Given the description of an element on the screen output the (x, y) to click on. 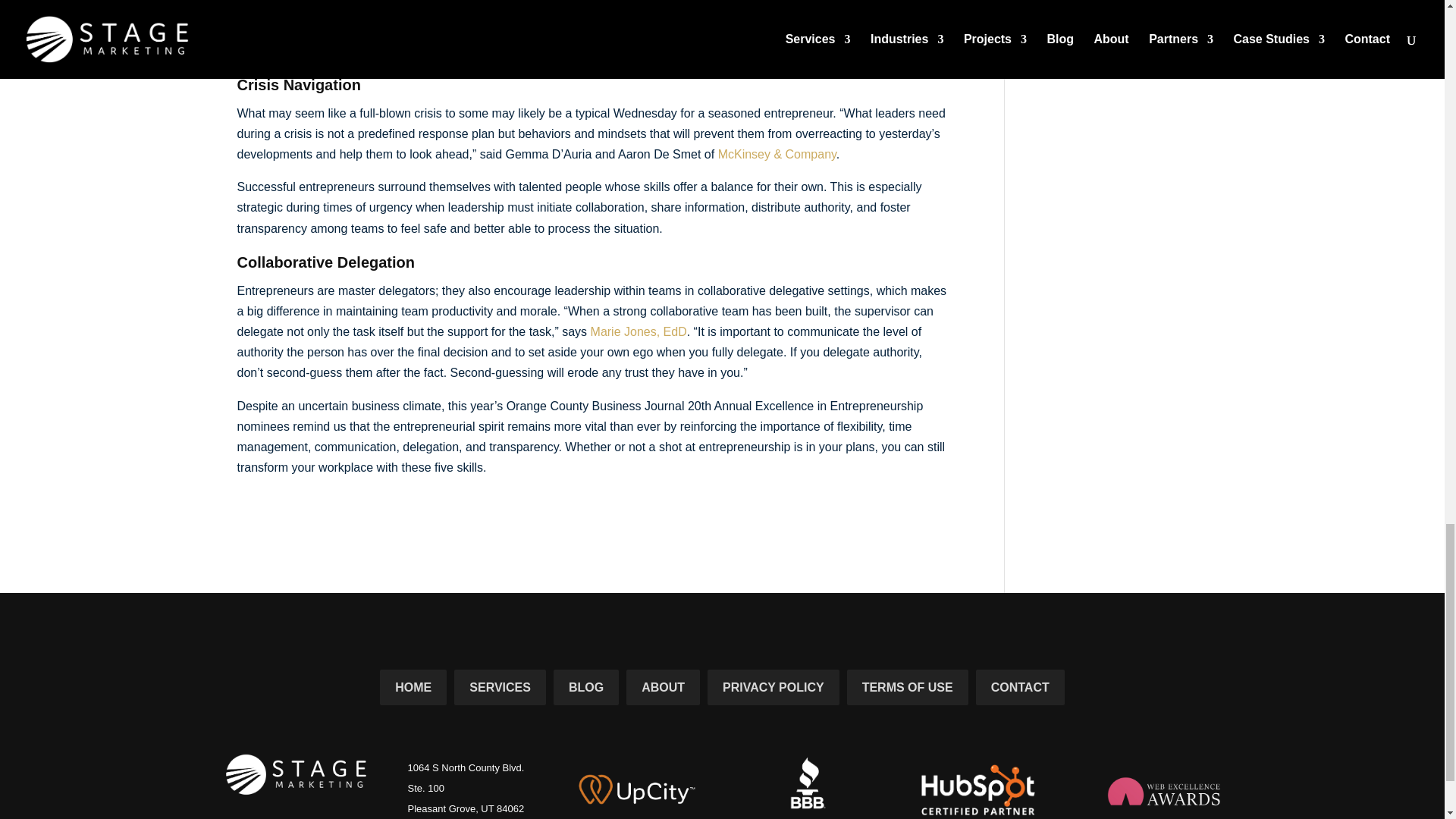
UpCity (636, 789)
Stage Marketing Logo (283, 770)
Hubspot (978, 789)
Web Excellence Awards (1163, 790)
